Given the description of an element on the screen output the (x, y) to click on. 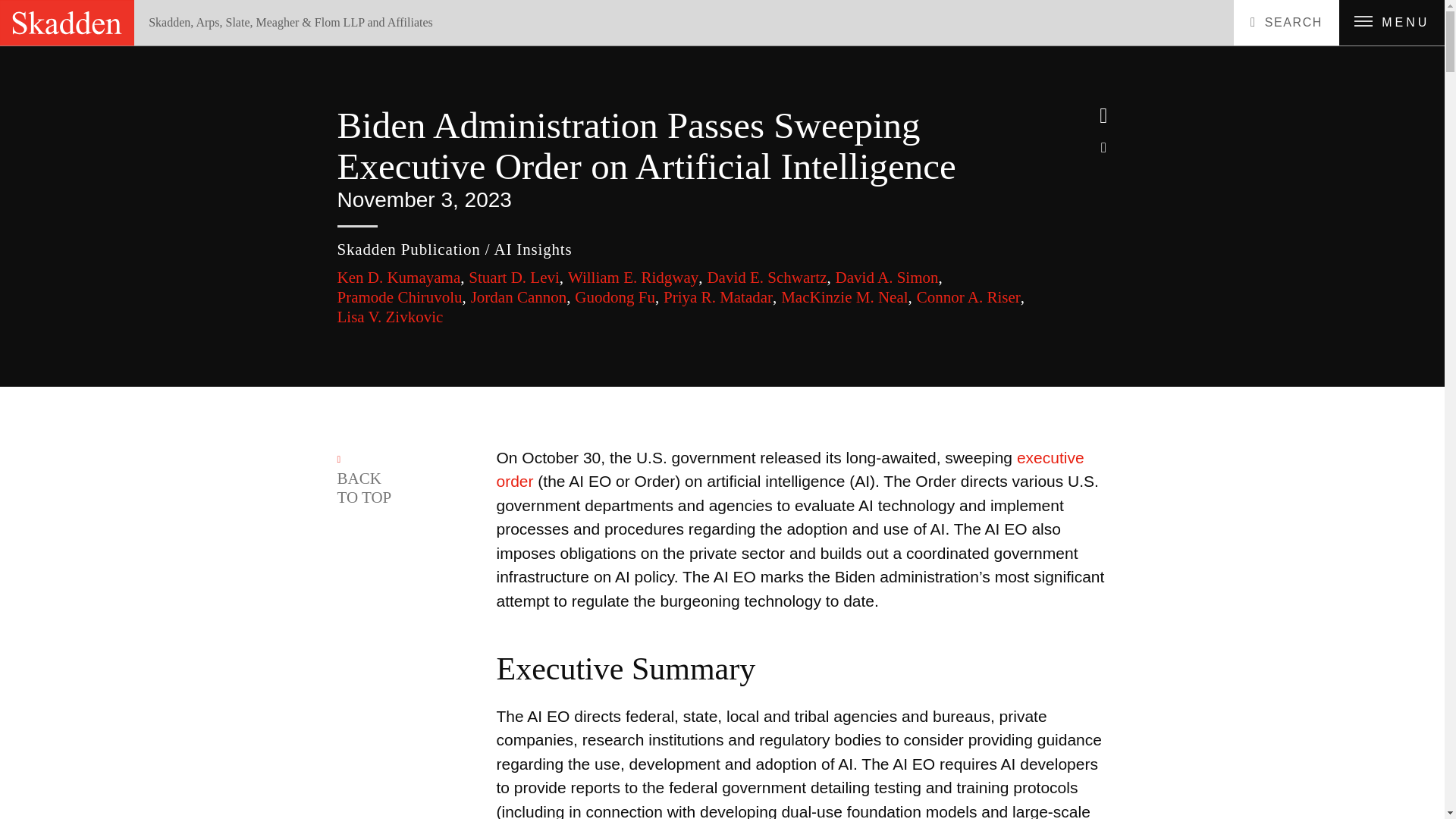
navigate to Home (173, 50)
MacKinzie M. Neal (846, 297)
Lisa V. Zivkovic (389, 316)
navigate to Insights (215, 50)
Stuart D. Levi (515, 277)
Guodong Fu (617, 297)
William E. Ridgway (635, 277)
Ken D. Kumayama (400, 277)
Insights (215, 50)
Jordan Cannon (520, 297)
